Given the description of an element on the screen output the (x, y) to click on. 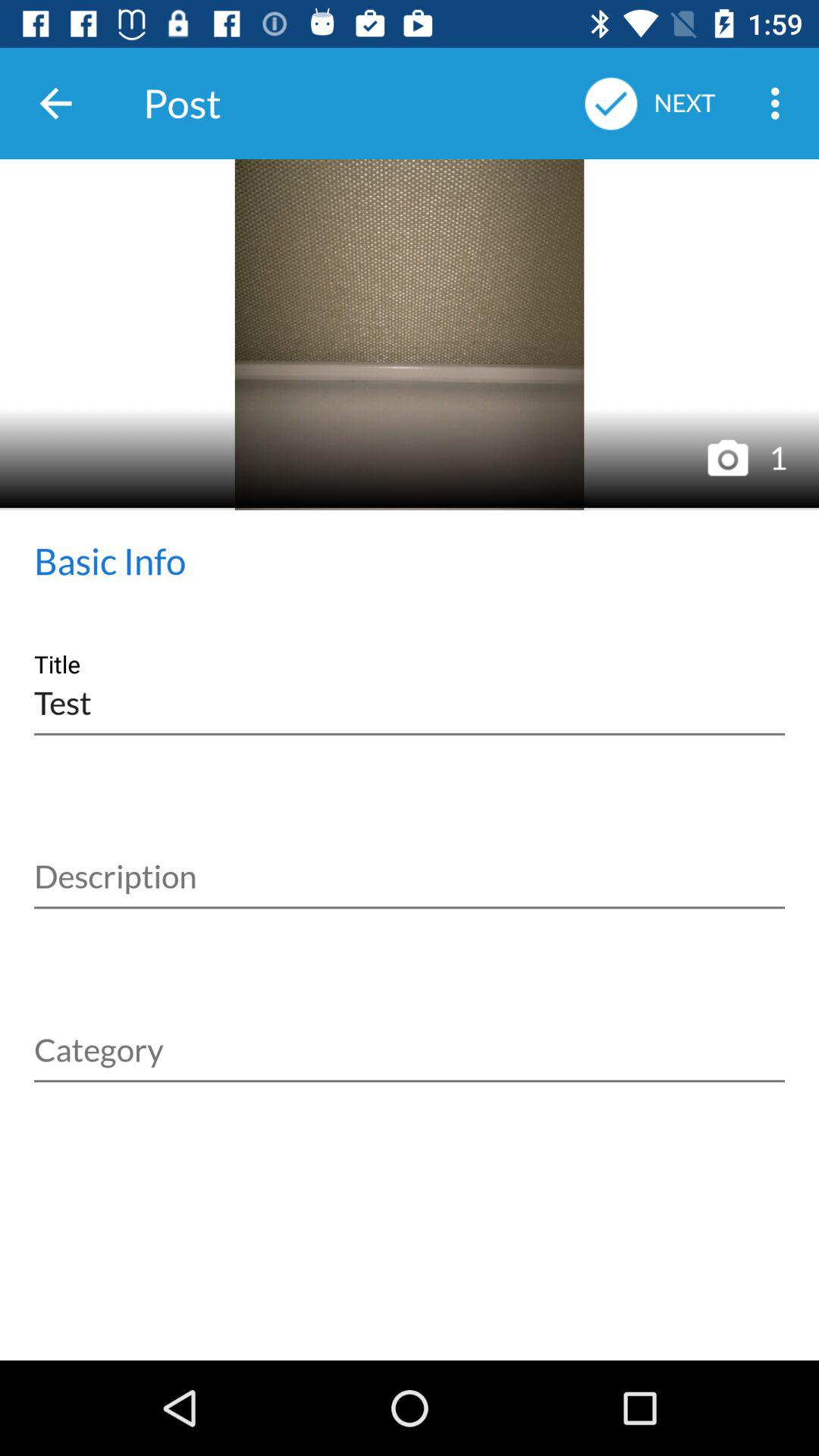
select more option which is on the top right corner of the page (779, 103)
select camera icon which is after the image (727, 457)
